Given the description of an element on the screen output the (x, y) to click on. 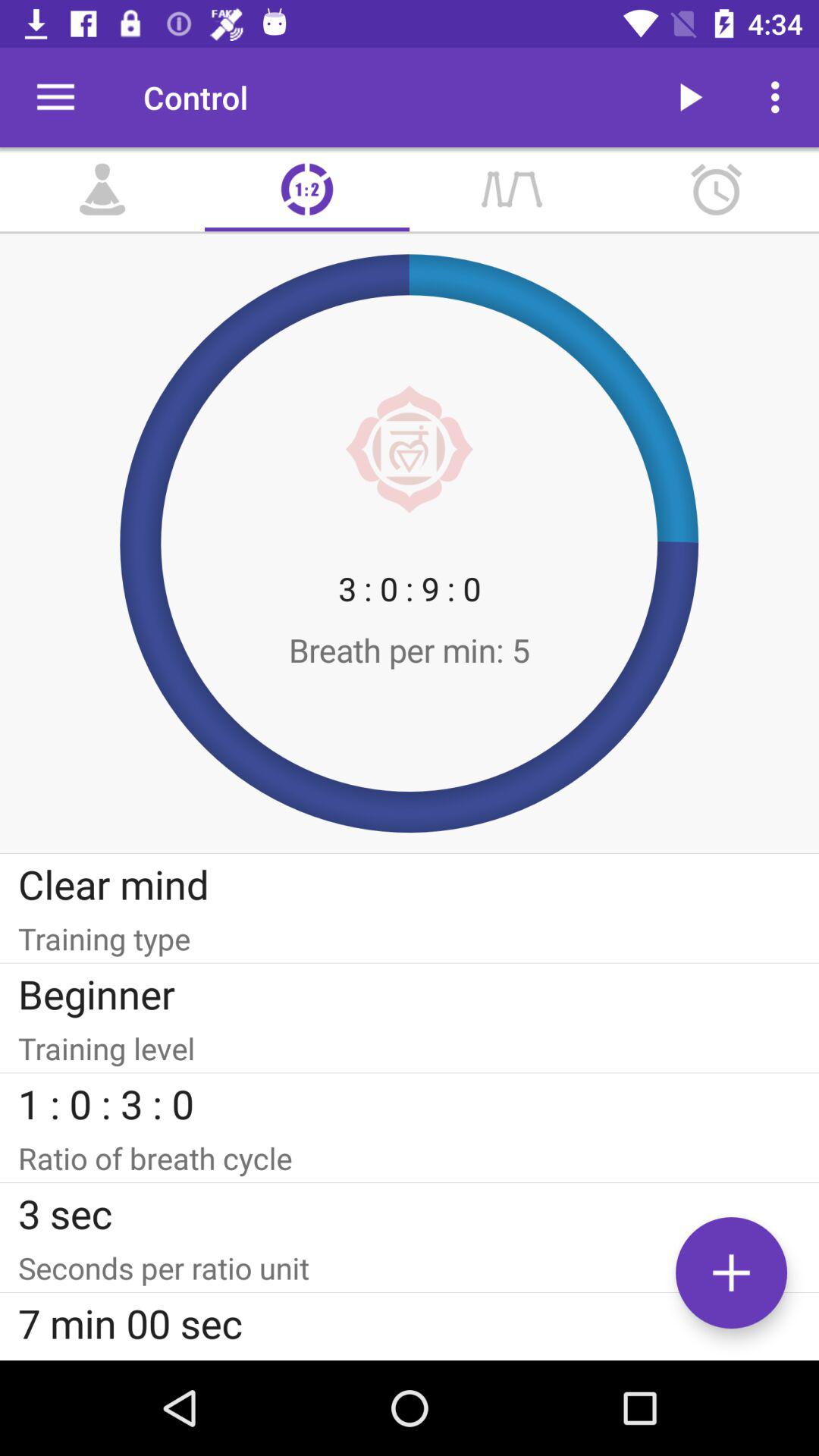
choose the icon above the 1 0 3 icon (409, 1048)
